Given the description of an element on the screen output the (x, y) to click on. 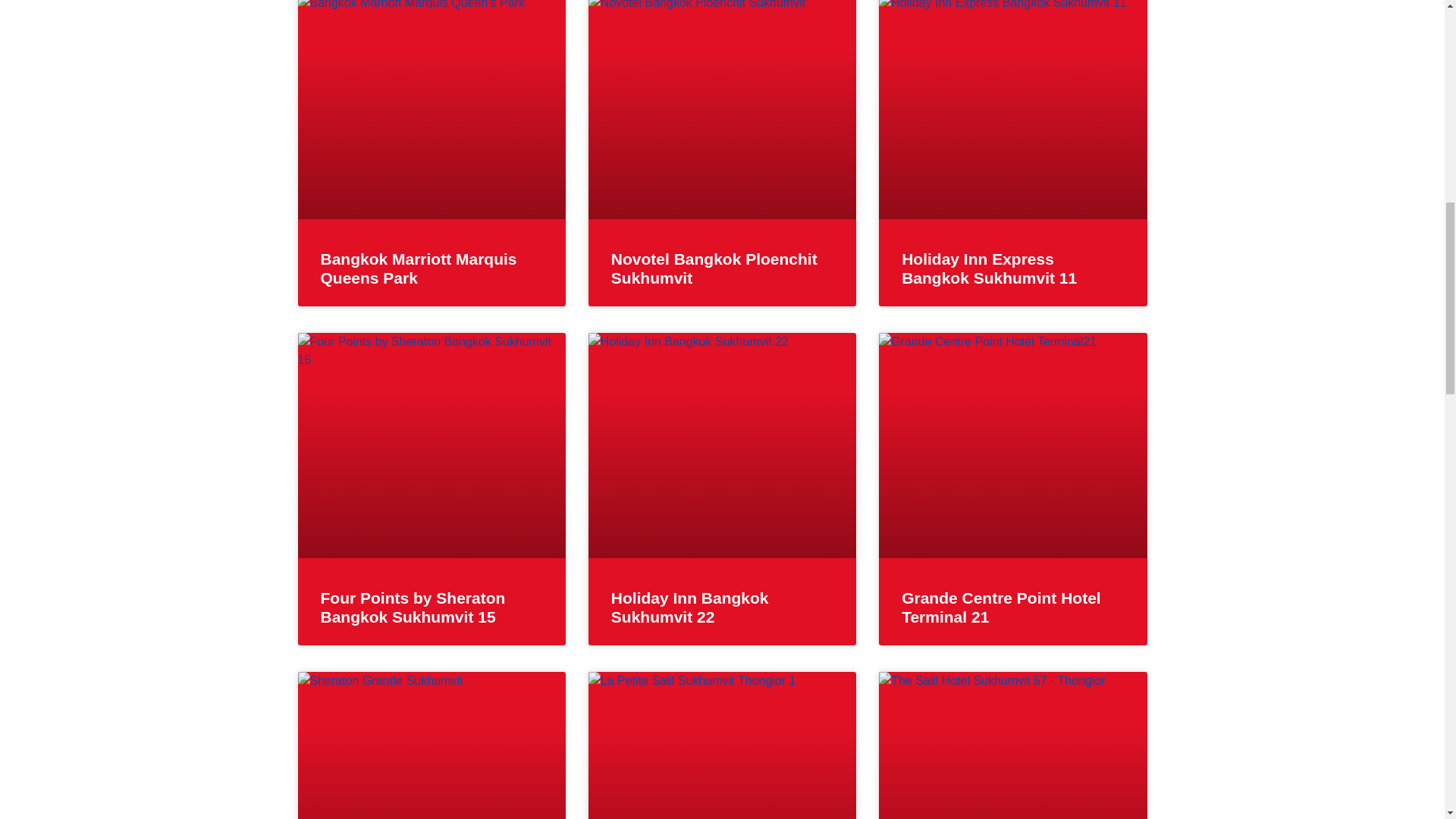
Holiday Inn Express Bangkok Sukhumvit 11 (989, 268)
Four Points by Sheraton Bangkok Sukhumvit 15 (412, 606)
Bangkok Marriott Marquis Queens Park (418, 268)
Novotel Bangkok Ploenchit Sukhumvit (713, 268)
Grande Centre Point Hotel Terminal 21 (1000, 606)
Holiday Inn Bangkok Sukhumvit 22 (689, 606)
